Given the description of an element on the screen output the (x, y) to click on. 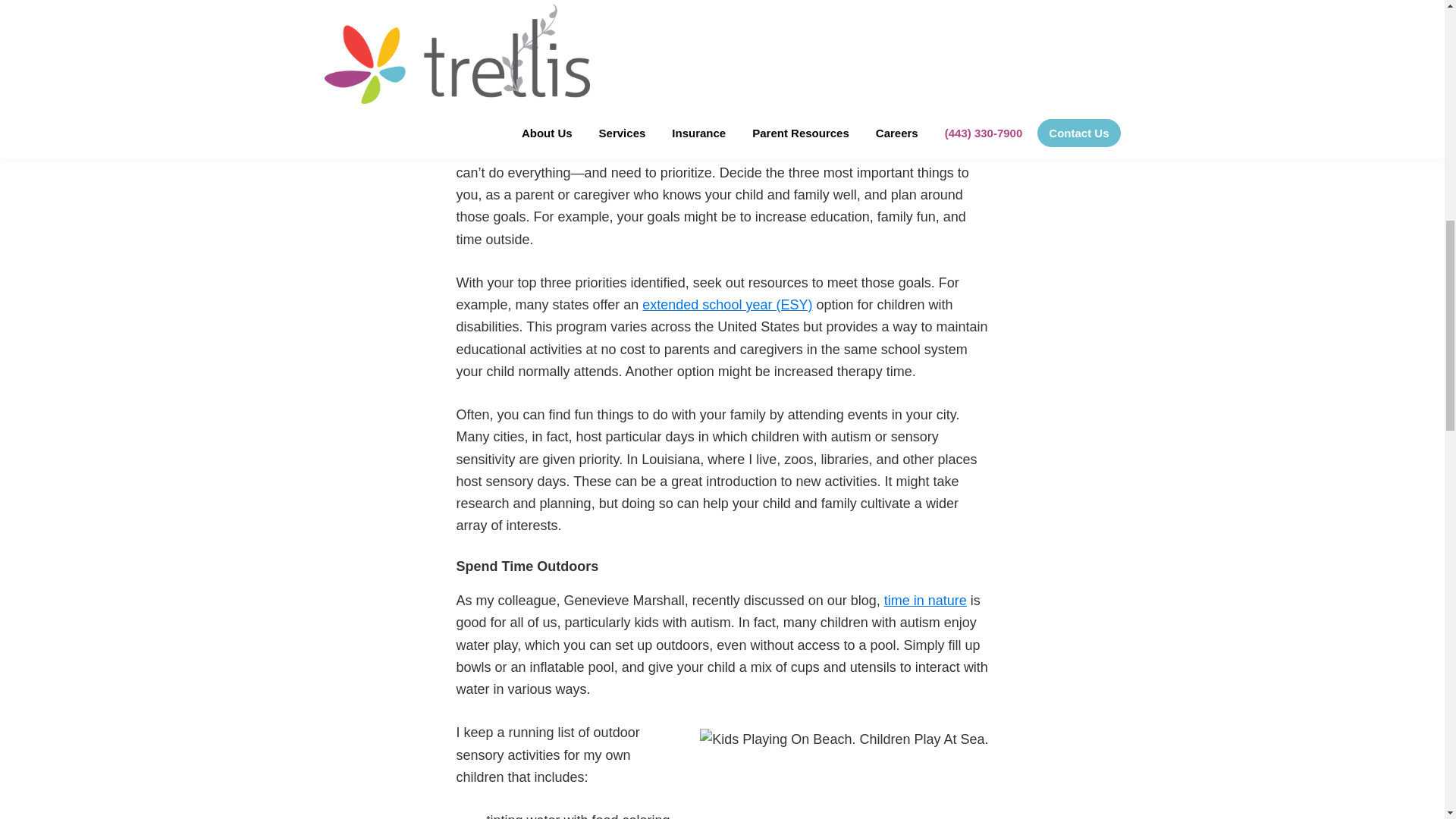
time in nature (924, 600)
